Given the description of an element on the screen output the (x, y) to click on. 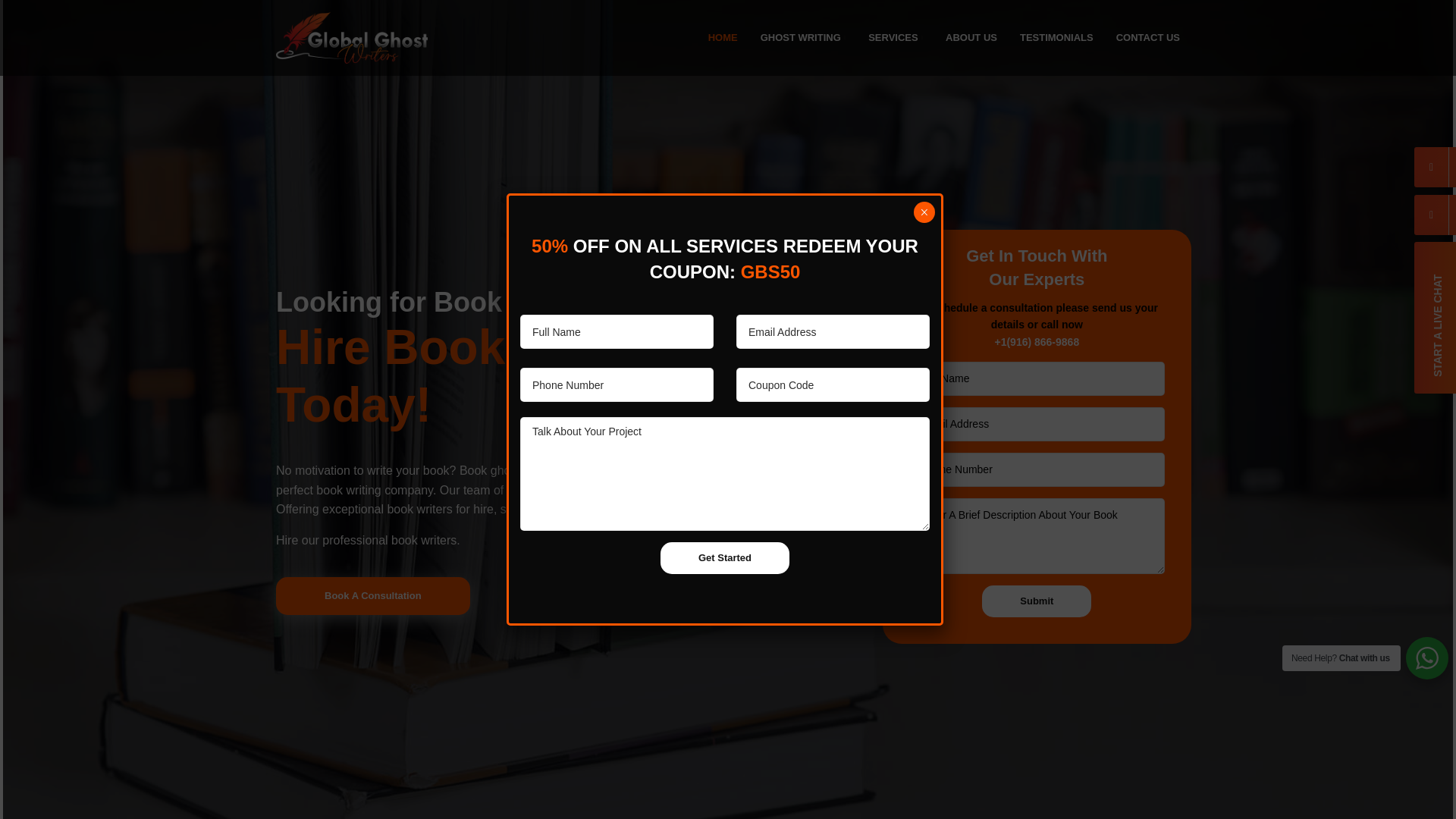
Book A Consultation (373, 596)
TESTIMONIALS (1057, 37)
SERVICES (895, 37)
CONTACT US (1148, 37)
Submit (1035, 601)
HOME (723, 37)
GHOST WRITING (803, 37)
ABOUT US (971, 37)
